Given the description of an element on the screen output the (x, y) to click on. 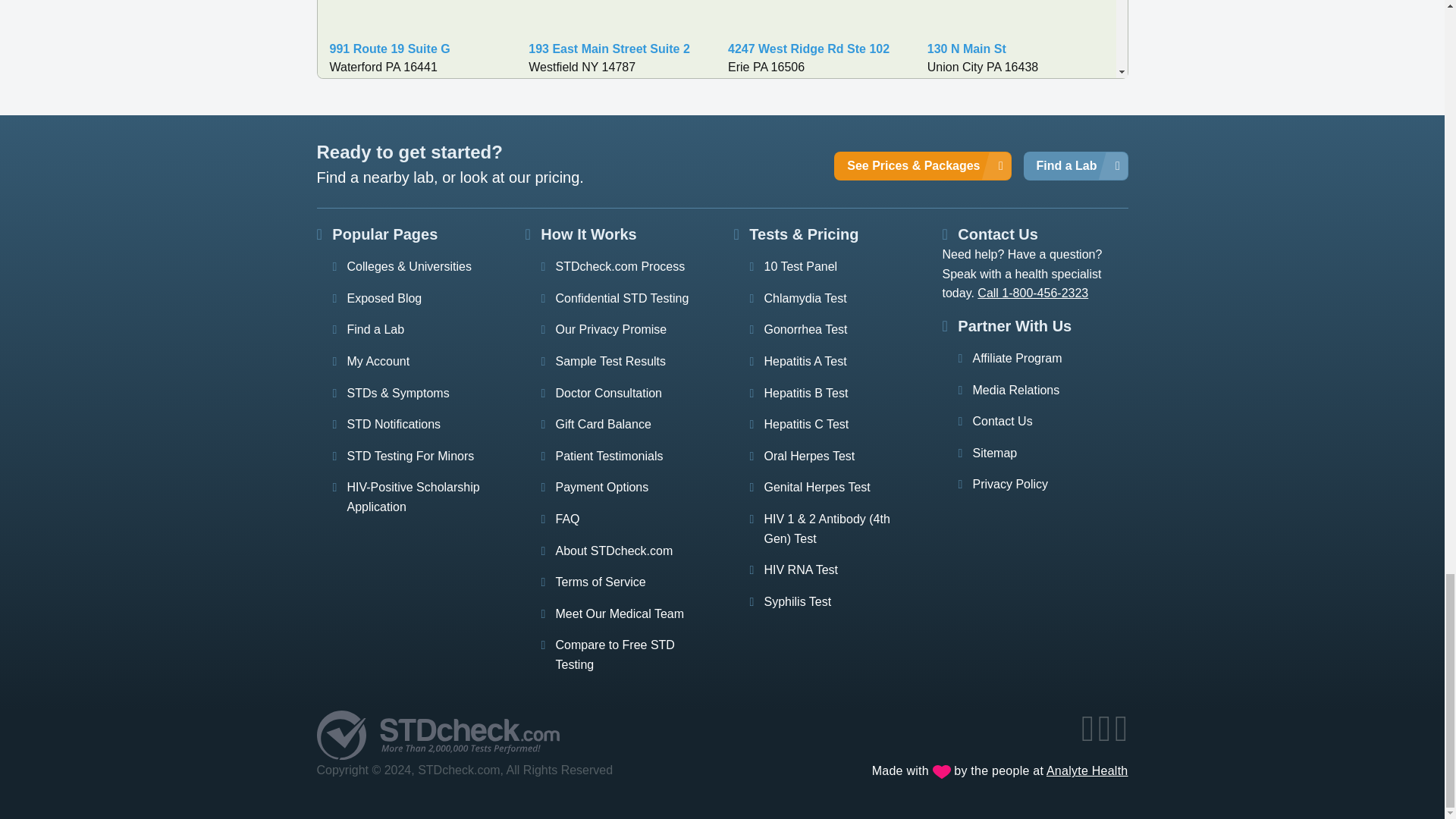
Facebook (1089, 736)
Feed burner (1121, 736)
Twitter (1106, 736)
